Given the description of an element on the screen output the (x, y) to click on. 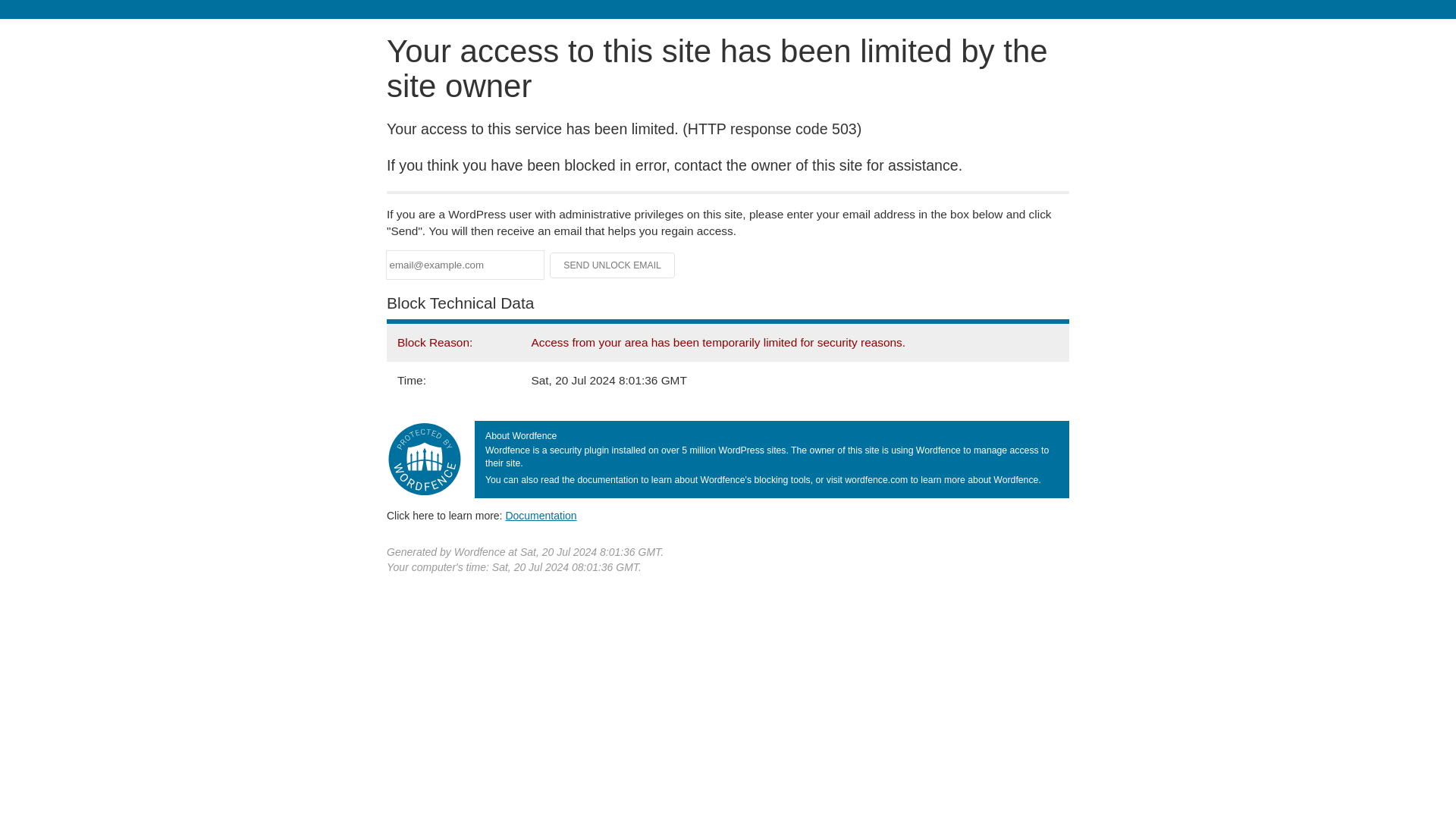
Documentation (540, 515)
Send Unlock Email (612, 265)
Send Unlock Email (612, 265)
